Given the description of an element on the screen output the (x, y) to click on. 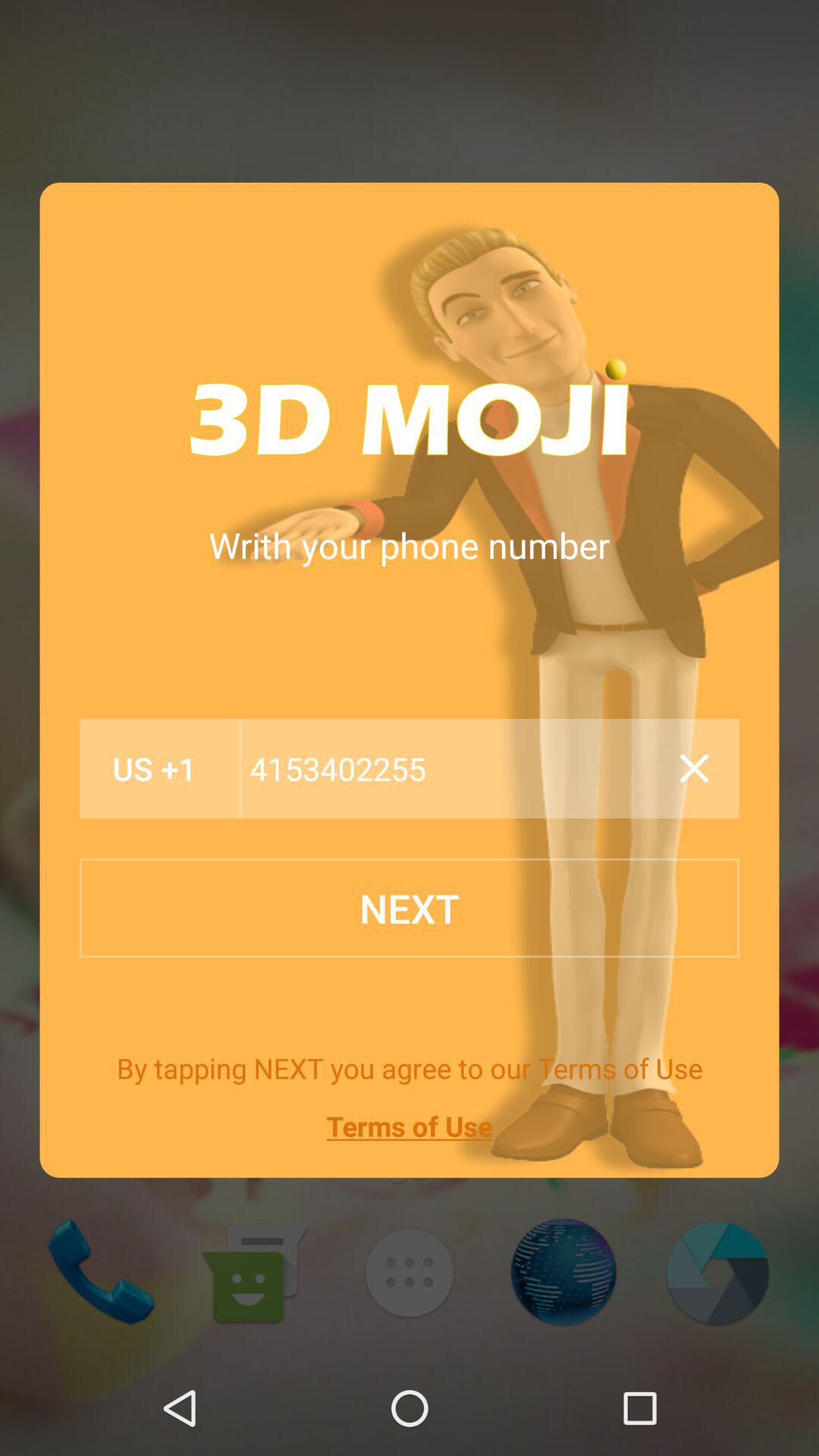
tap icon next to the 4153402255 (694, 768)
